Given the description of an element on the screen output the (x, y) to click on. 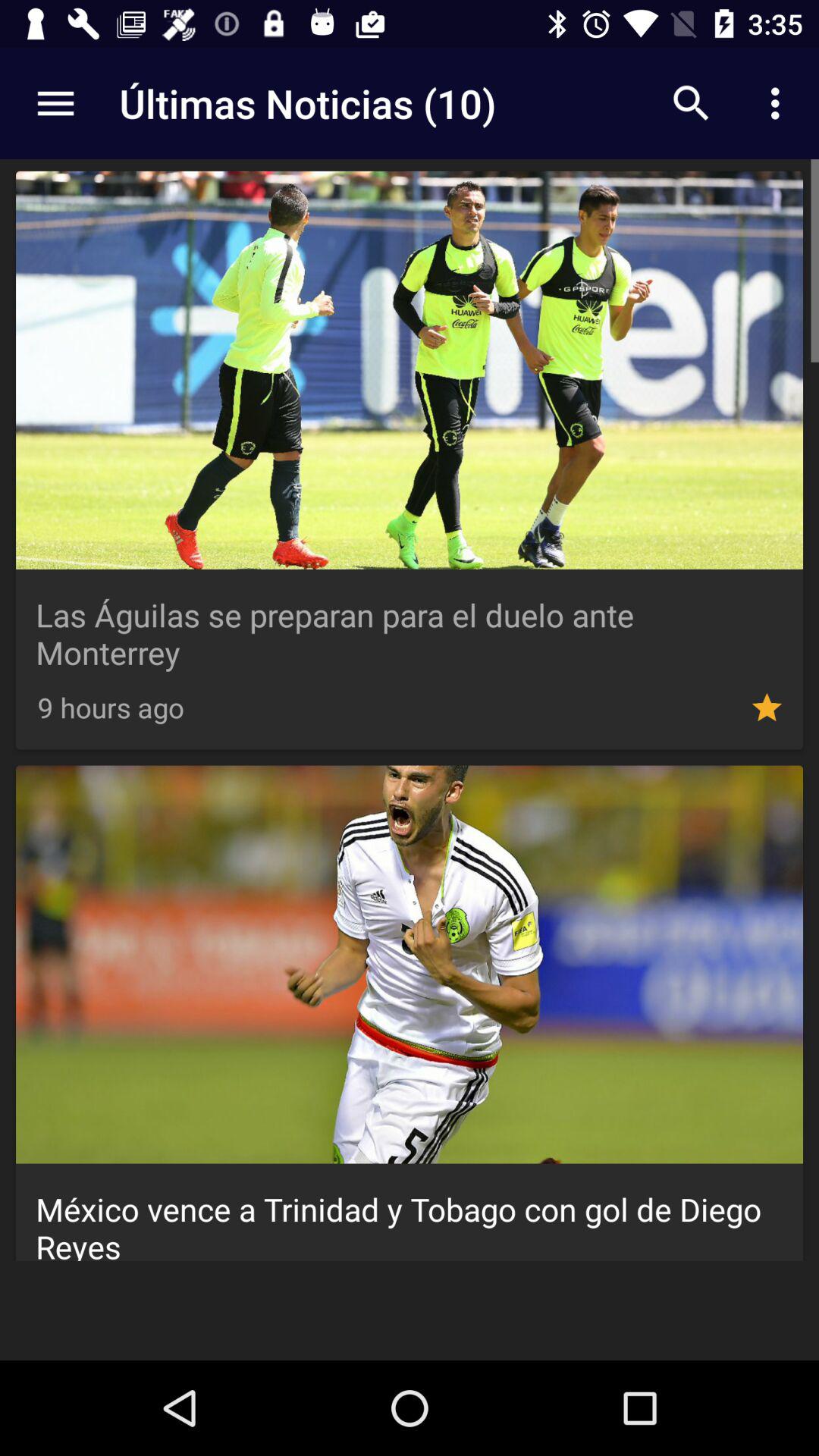
launch the icon at the top left corner (55, 103)
